Given the description of an element on the screen output the (x, y) to click on. 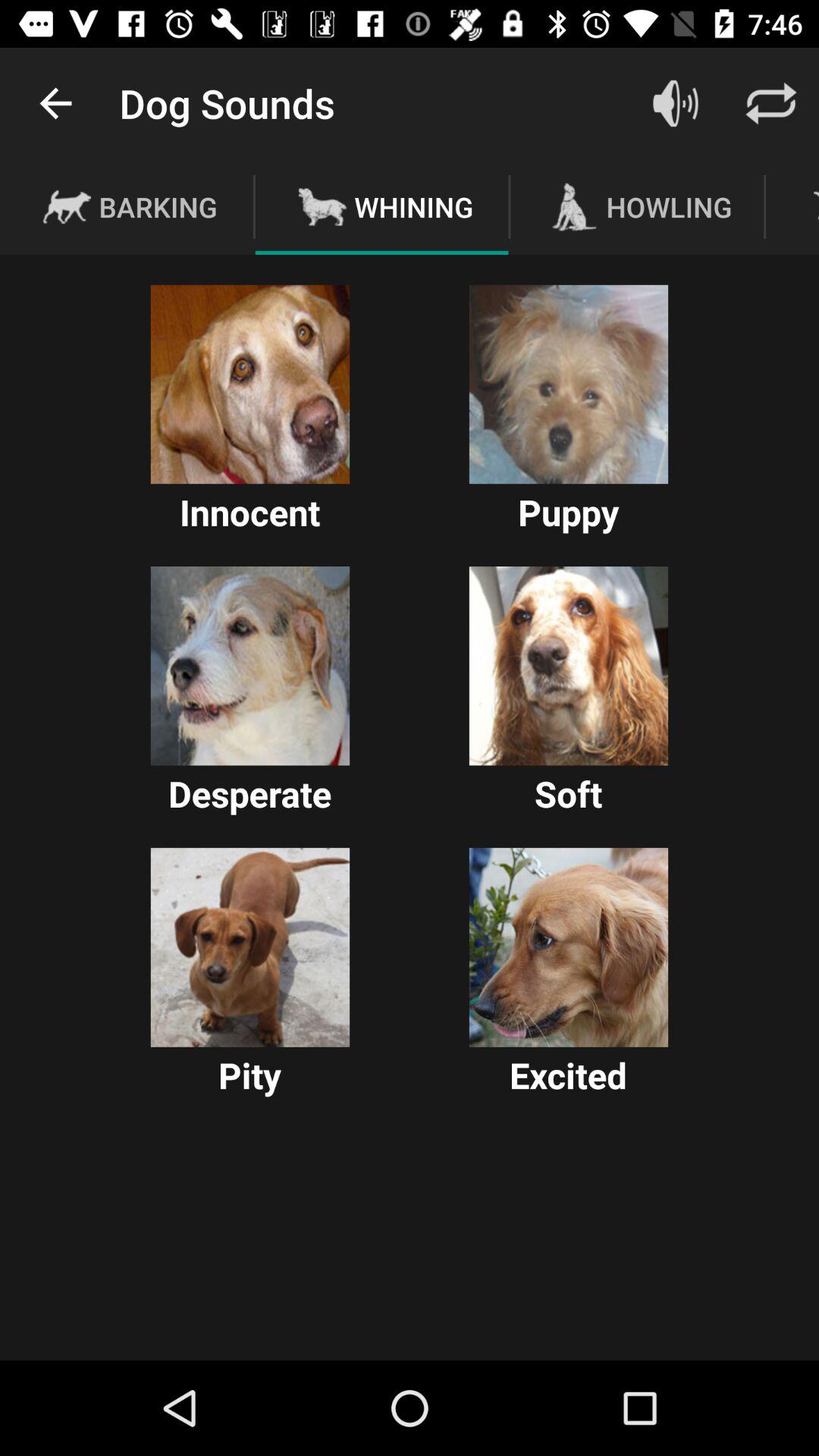
launch item to the left of the dog sounds icon (55, 103)
